Given the description of an element on the screen output the (x, y) to click on. 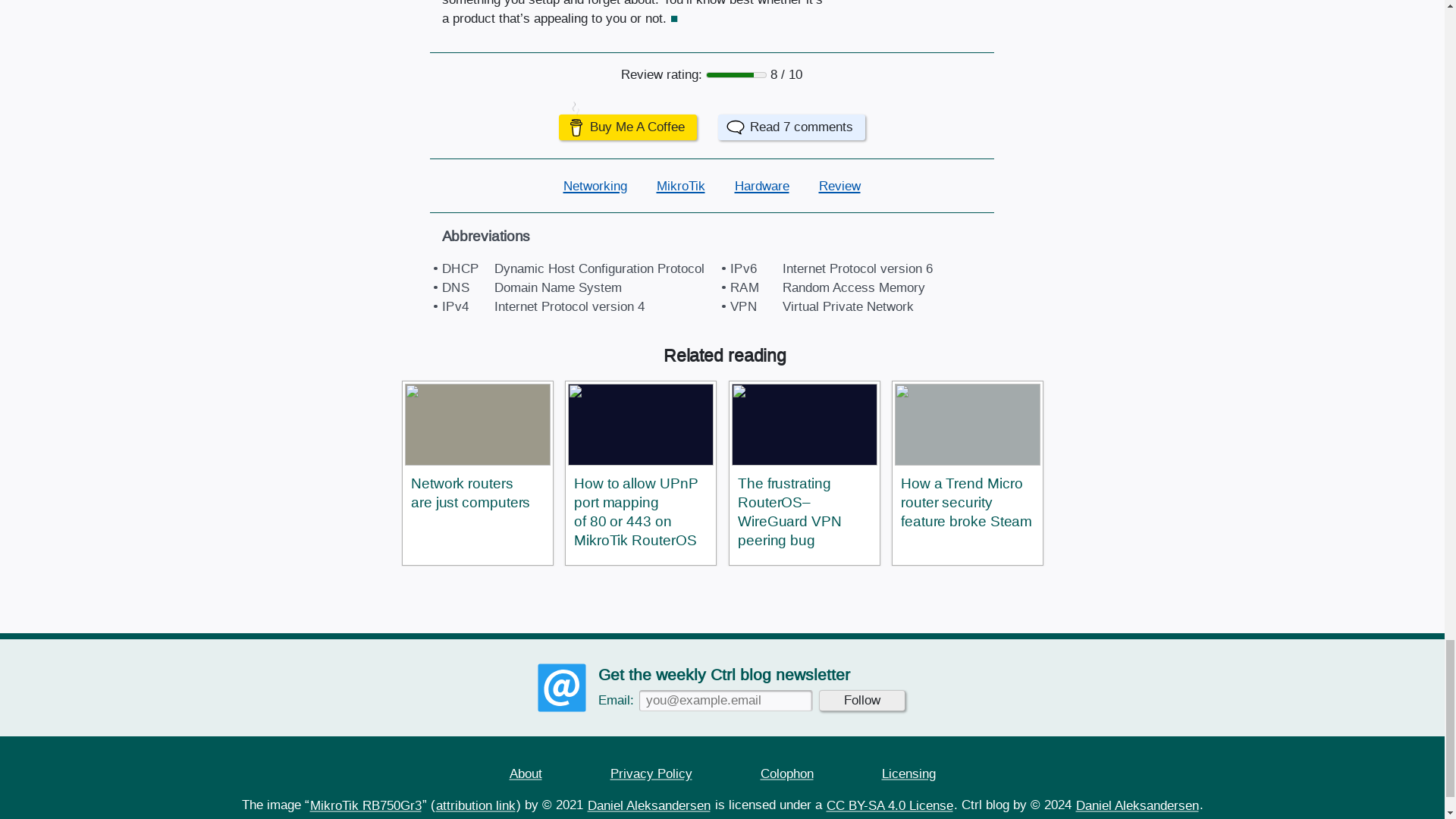
Follow (861, 700)
Privacy Policy (651, 773)
attribution link (475, 805)
Review (838, 185)
Networking (594, 185)
CC BY-SA 4.0 License (889, 805)
Colophon (786, 773)
MikroTik RB750Gr3 (365, 805)
Daniel Aleksandersen (1137, 805)
